Given the description of an element on the screen output the (x, y) to click on. 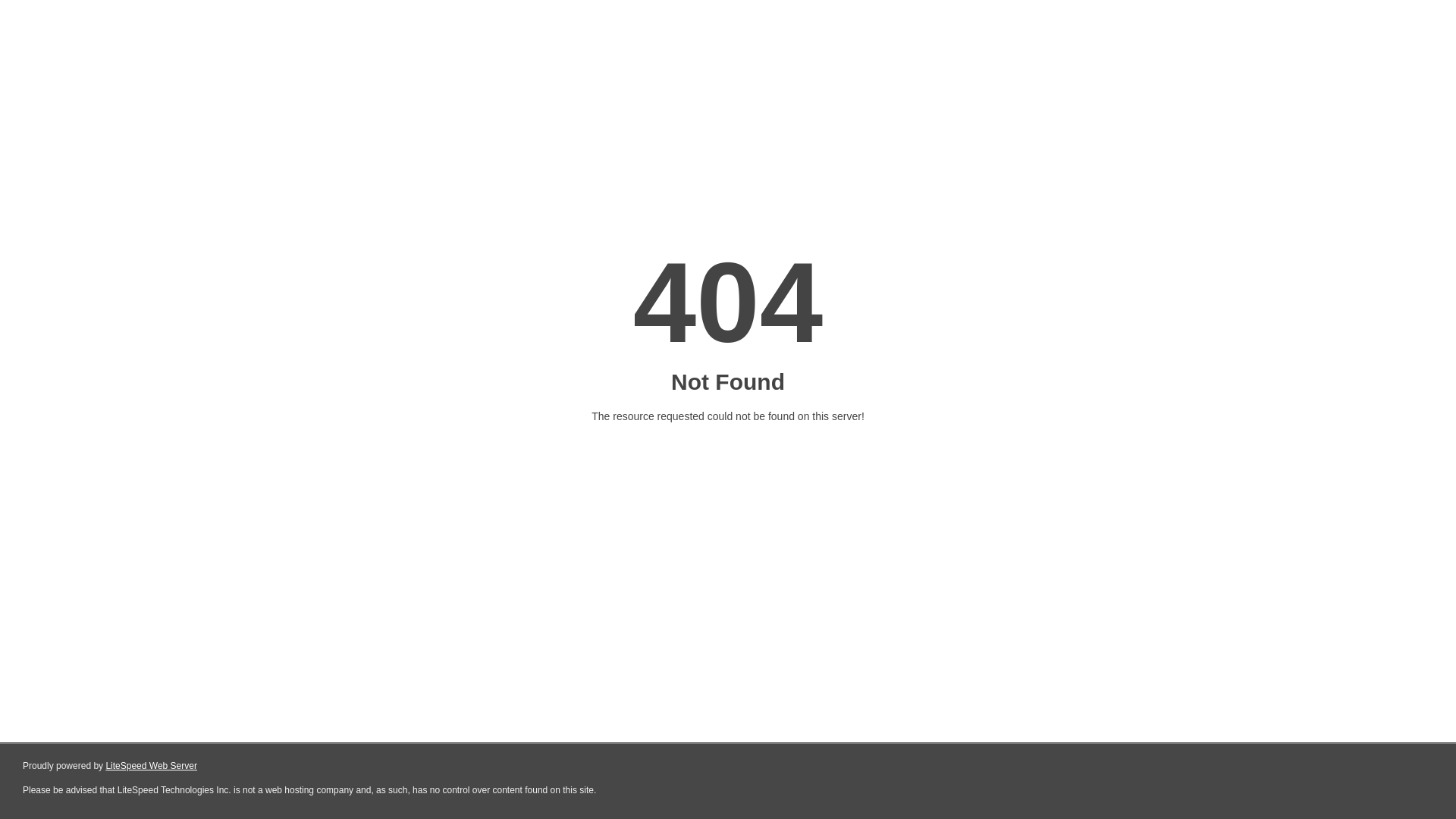
LiteSpeed Web Server Element type: text (151, 765)
